Given the description of an element on the screen output the (x, y) to click on. 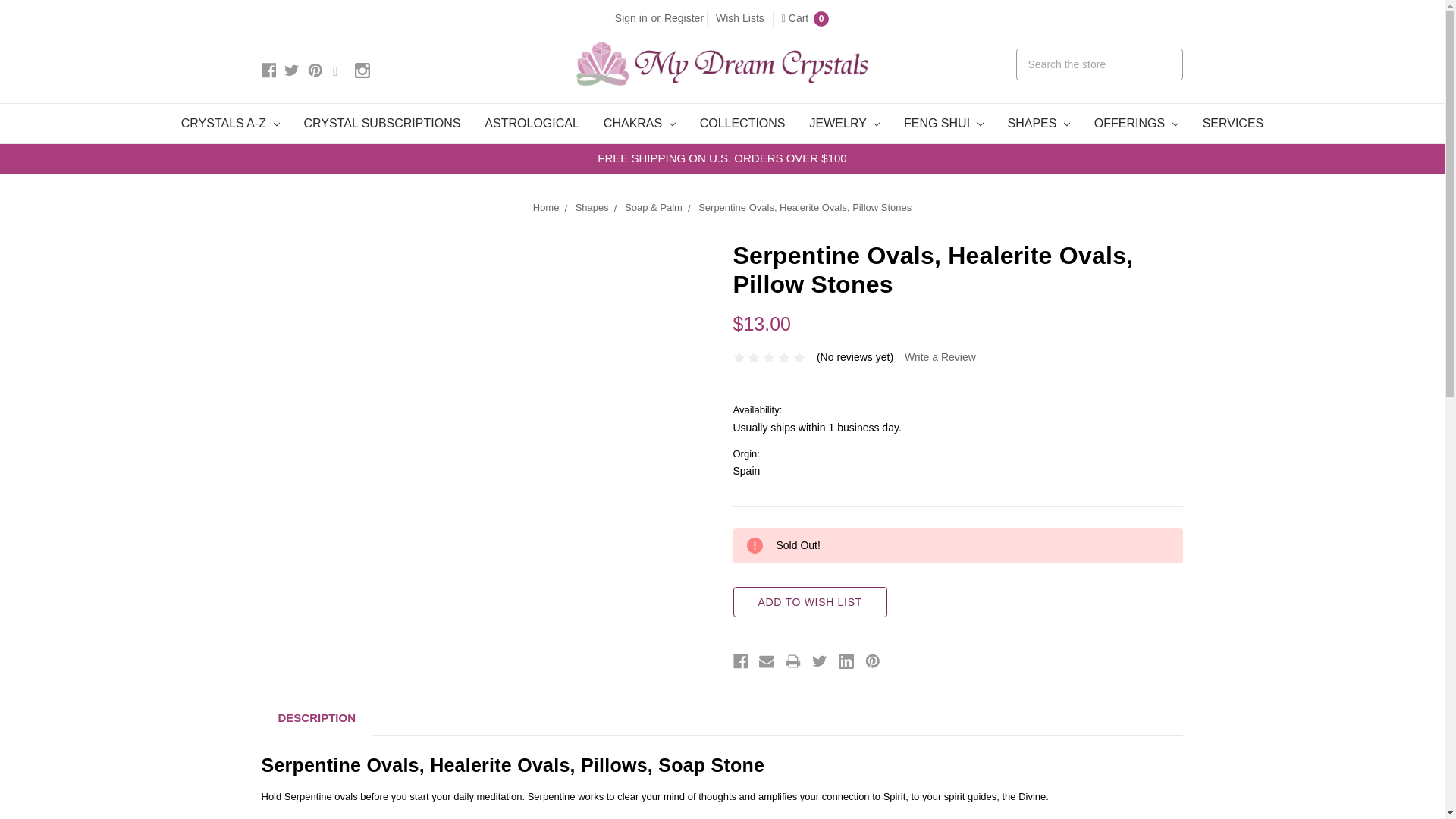
My Dream Crystals (721, 63)
Register (683, 18)
Add to wish list (809, 602)
Sign in (631, 18)
Wish Lists (740, 18)
Cart 0 (805, 18)
CRYSTALS A-Z (230, 123)
